Given the description of an element on the screen output the (x, y) to click on. 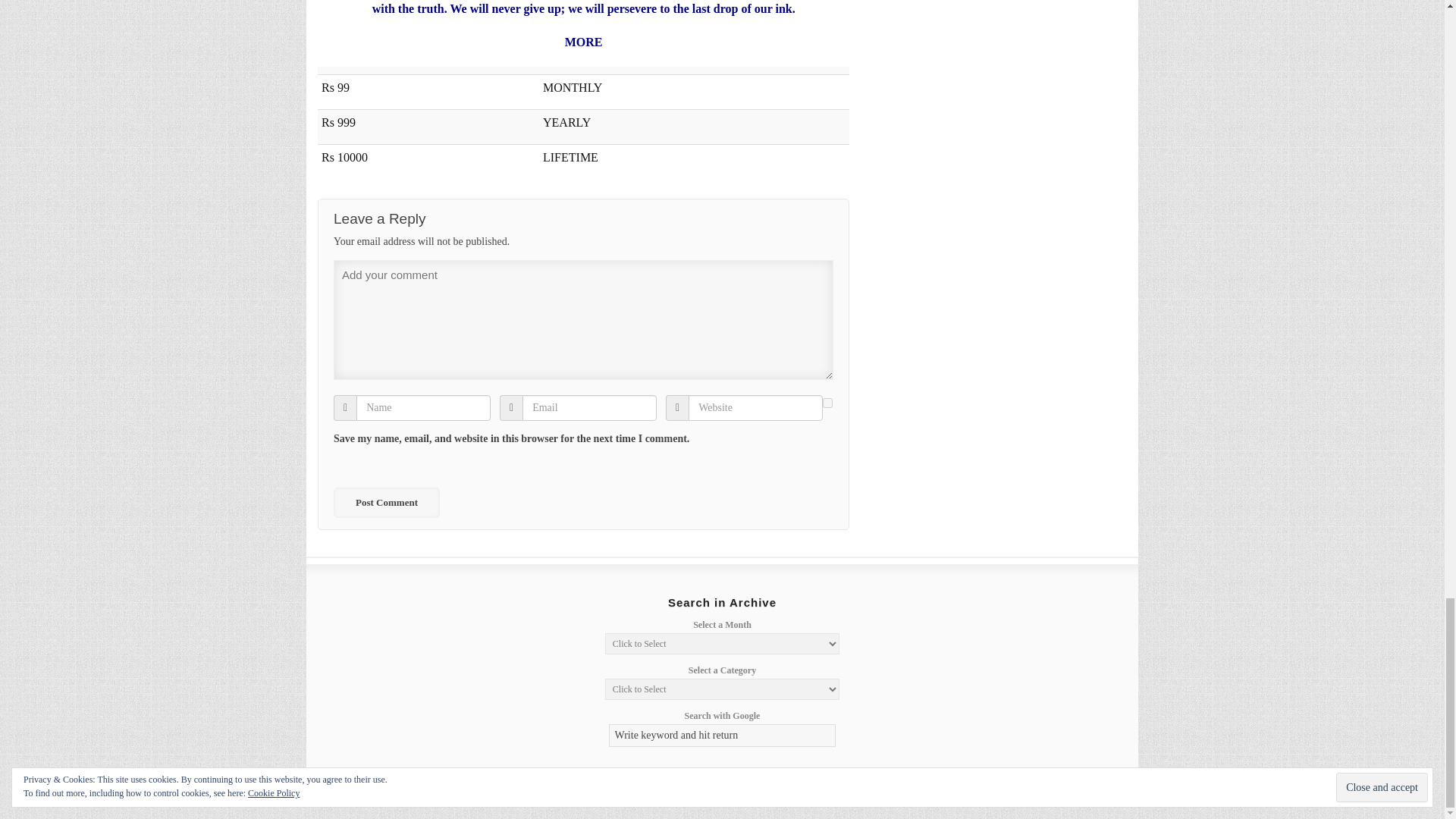
WordPress Newspaper Themes (1097, 790)
Write keyword and hit return (721, 734)
yes (827, 402)
Semantic Personal Publishing Platform (1017, 790)
Kashmir Reader (381, 790)
Post Comment (386, 502)
